Given the description of an element on the screen output the (x, y) to click on. 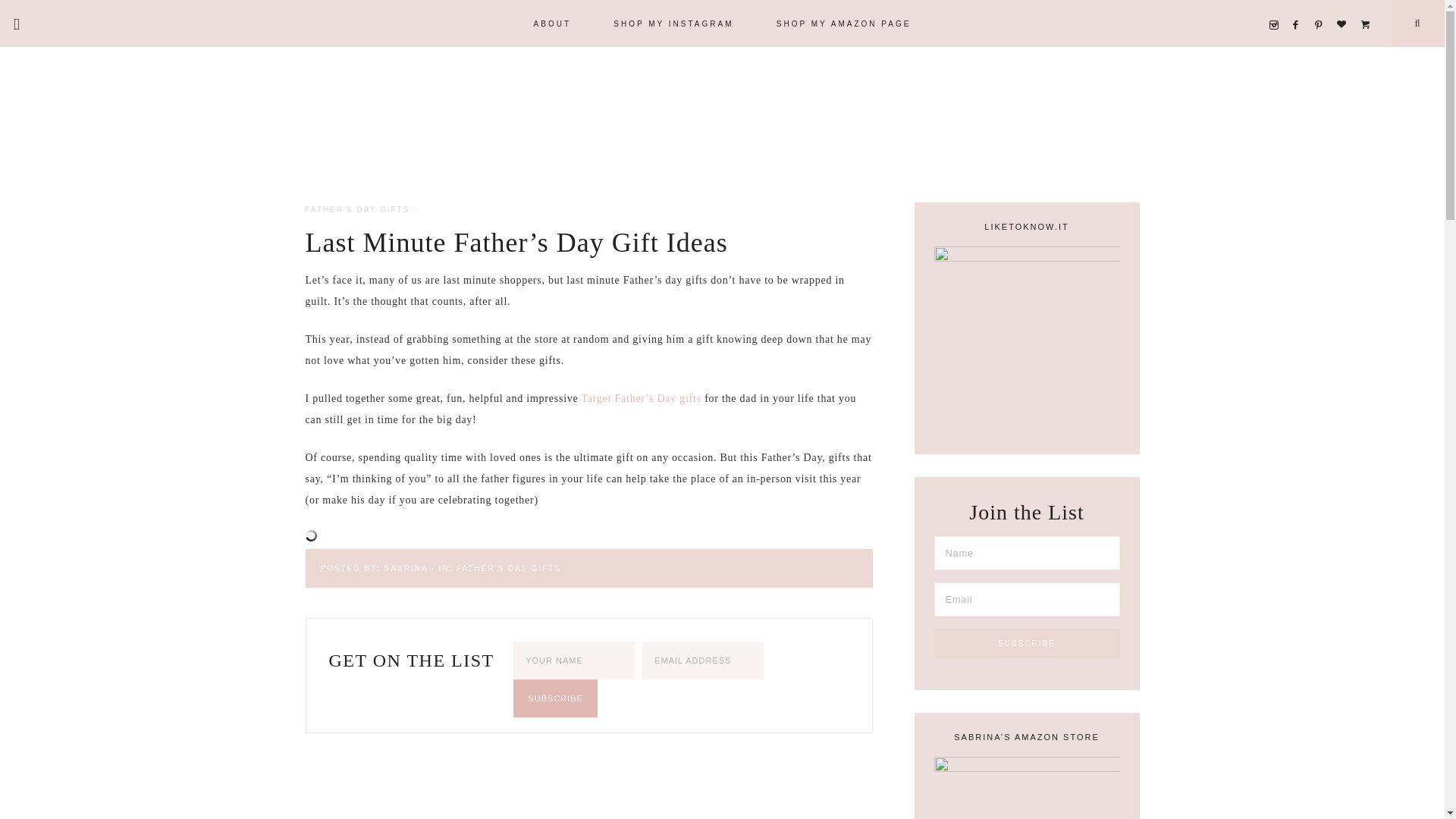
FATHER'S DAY GIFTS (356, 209)
ABOUT (552, 22)
SHOP MY INSTAGRAM (673, 22)
SHOP MY AMAZON PAGE (844, 22)
SABRINA (406, 568)
Pinterest (1322, 6)
FATHER'S DAY GIFTS (508, 568)
Instagram (1277, 6)
Subscribe (1026, 643)
Facebook (1299, 6)
Bloglovin (1345, 6)
Subscribe (1026, 643)
Subscribe (554, 698)
Subscribe (554, 698)
LIKEtoKNOWit (1367, 6)
